Given the description of an element on the screen output the (x, y) to click on. 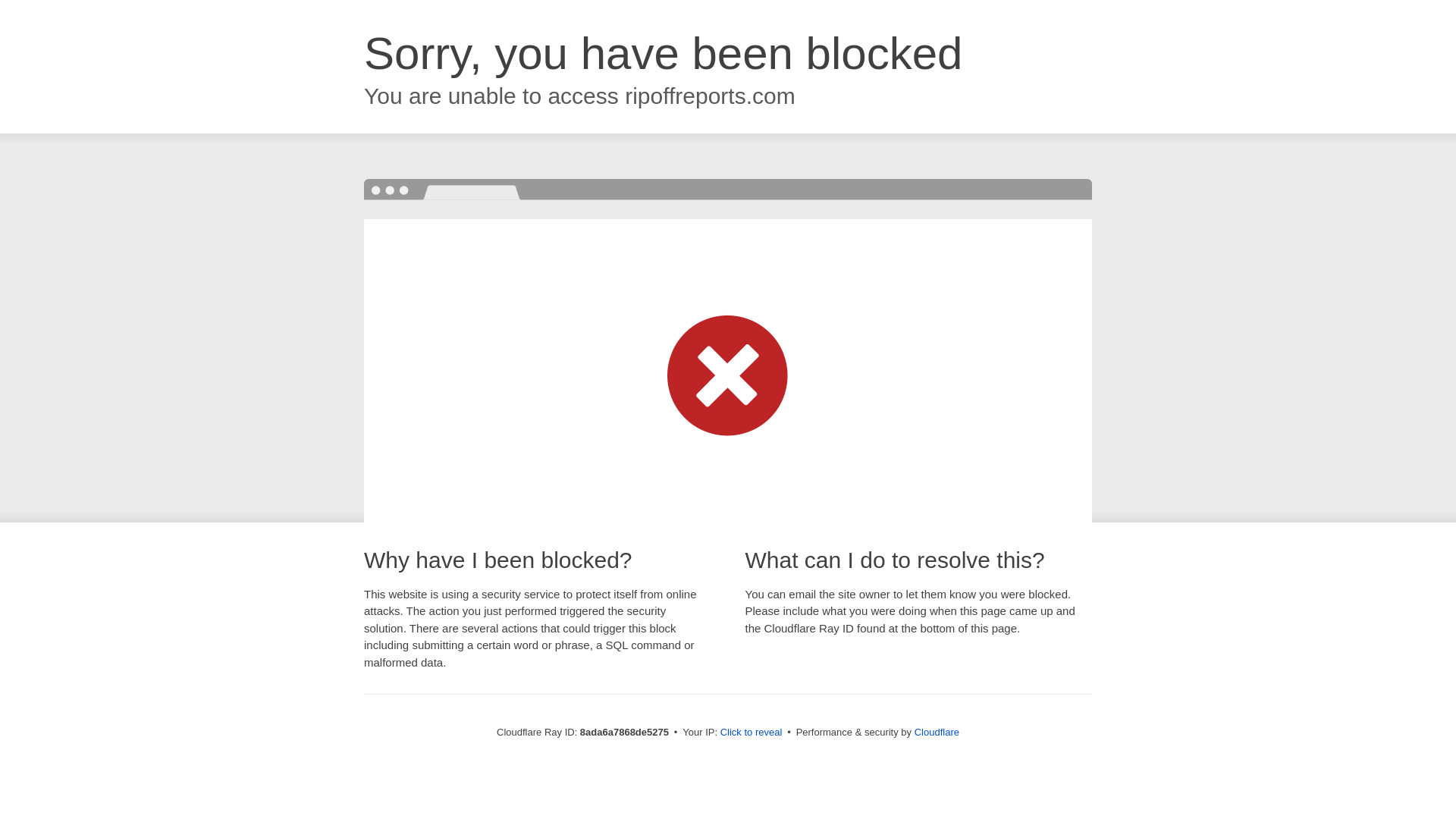
Click to reveal (751, 732)
Cloudflare (936, 731)
